Given the description of an element on the screen output the (x, y) to click on. 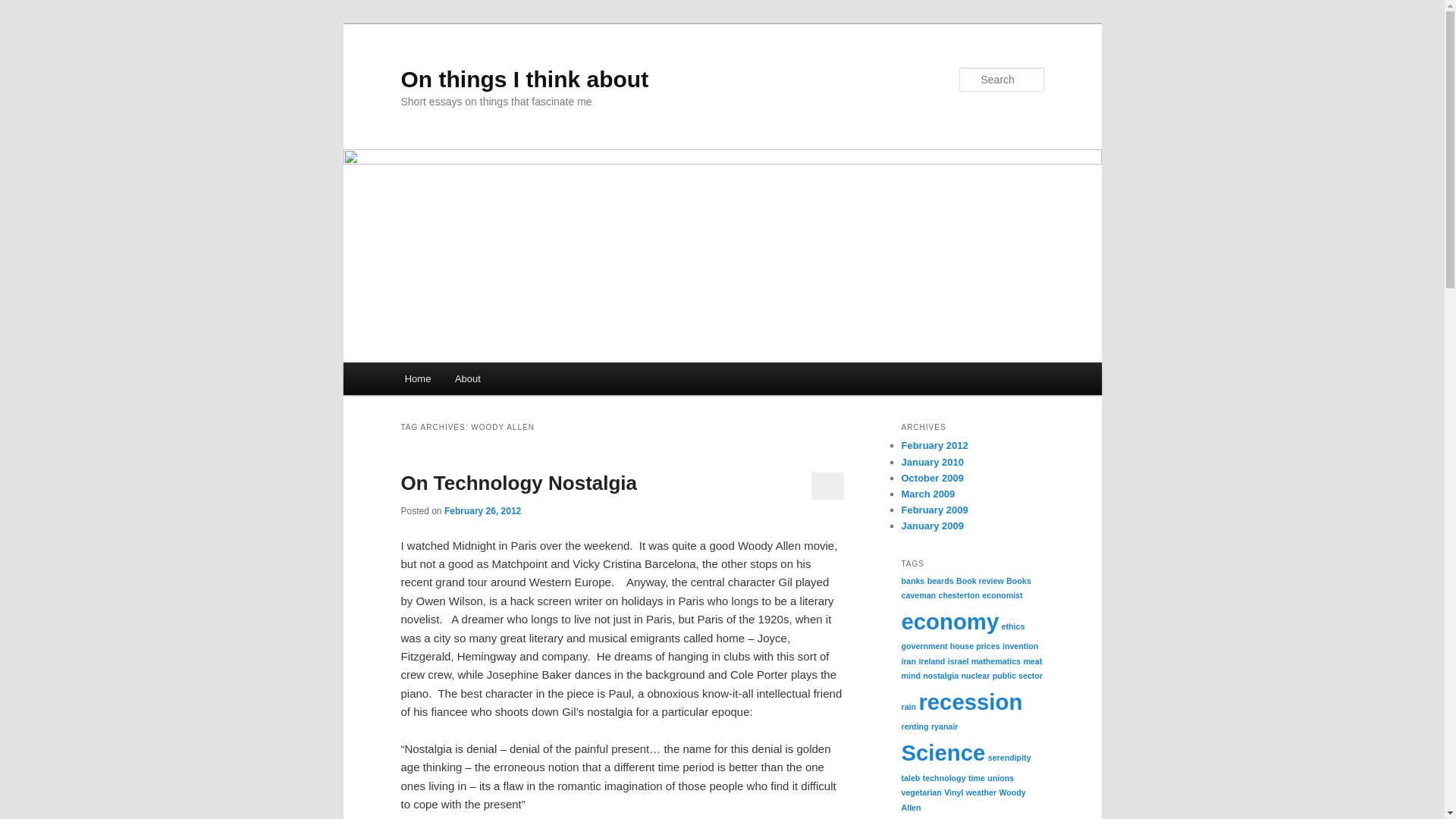
On things I think about (523, 78)
10:02 pm (482, 511)
February 2012 (934, 445)
On things I think about (523, 78)
economist (1001, 594)
March 2009 (928, 493)
Book review (980, 580)
February 2009 (934, 509)
On Technology Nostalgia (518, 482)
invention (1020, 645)
banks (912, 580)
March 2009 (928, 493)
ethics (1013, 625)
February 2012 (934, 445)
government (924, 645)
